Given the description of an element on the screen output the (x, y) to click on. 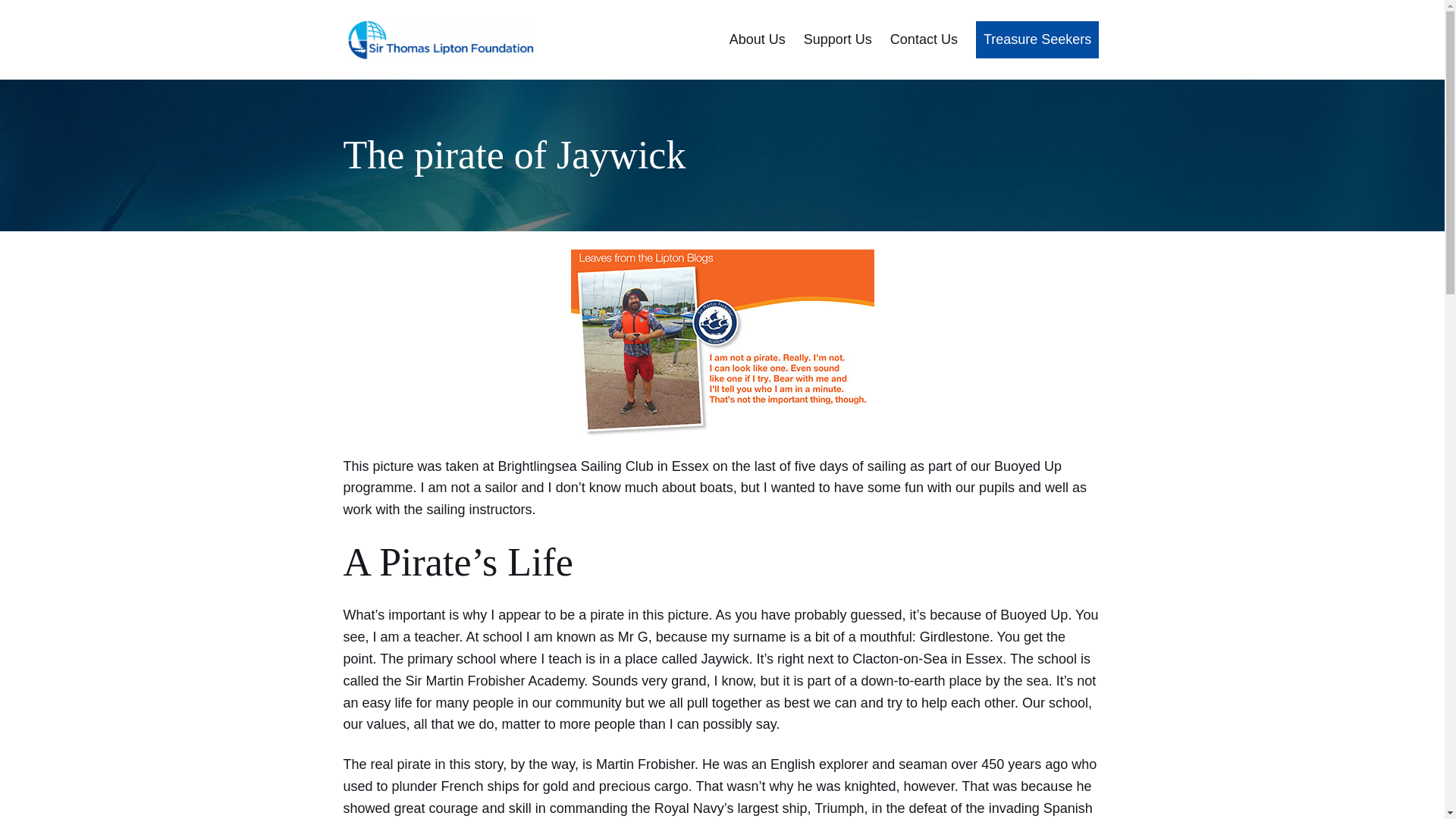
Treasure Seekers (1037, 39)
About Us (757, 39)
Contact Us (923, 39)
Support Us (837, 39)
